Given the description of an element on the screen output the (x, y) to click on. 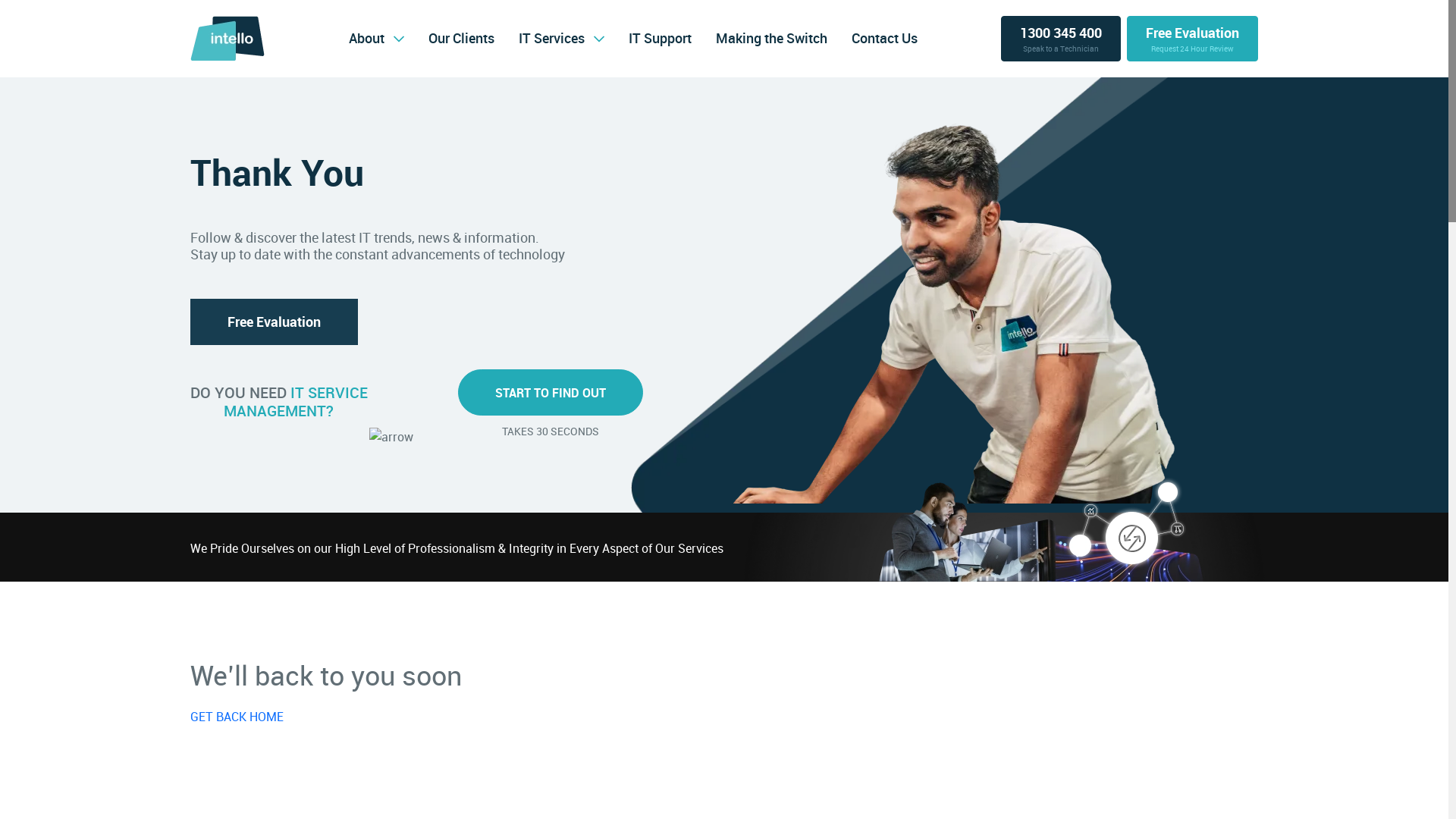
START TO FIND OUT Element type: text (550, 392)
Making the Switch Element type: text (771, 38)
About Element type: text (366, 38)
Free Evaluation Element type: text (273, 321)
Contact Us Element type: text (883, 38)
IT Services Element type: text (551, 38)
1300 345 400
Speak to a Technician Element type: text (1060, 38)
IT Support Element type: text (658, 38)
GET BACK HOME Element type: text (236, 716)
Free Evaluation
Request 24 Hour Review Element type: text (1192, 38)
Our Clients Element type: text (460, 38)
